Given the description of an element on the screen output the (x, y) to click on. 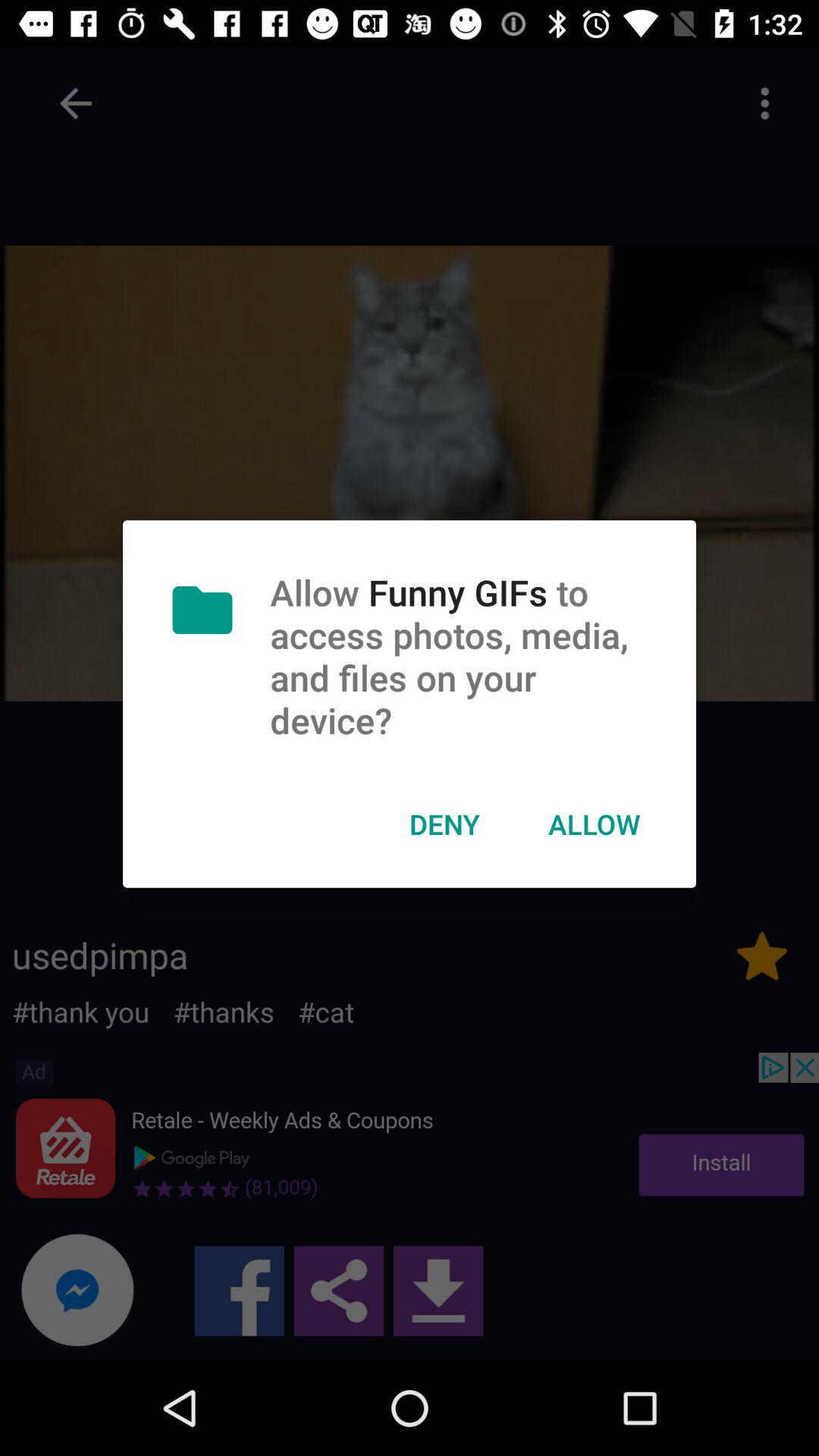
menu option (764, 103)
